Given the description of an element on the screen output the (x, y) to click on. 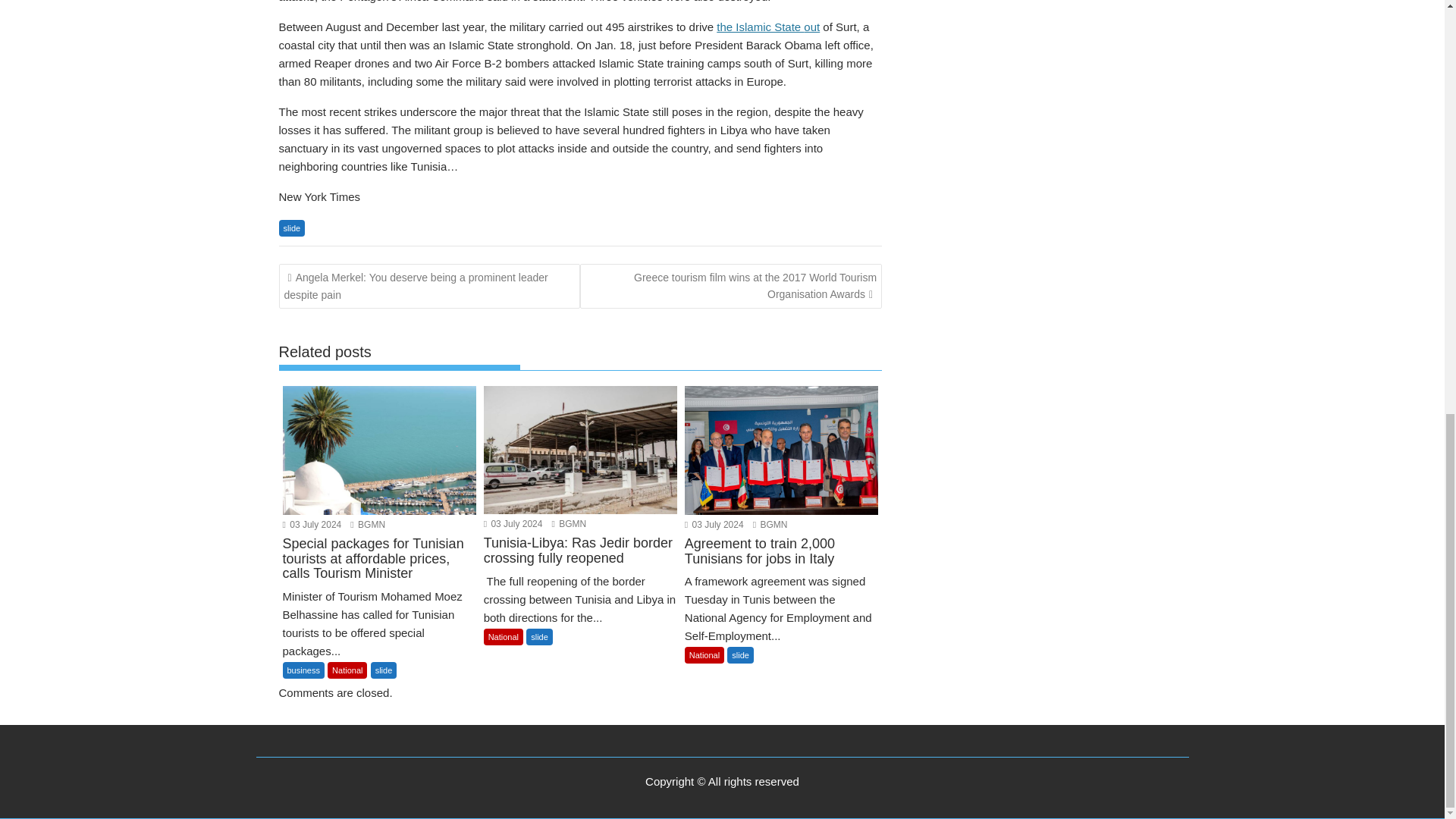
BGMN (367, 524)
BGMN (769, 524)
BGMN (568, 523)
